Given the description of an element on the screen output the (x, y) to click on. 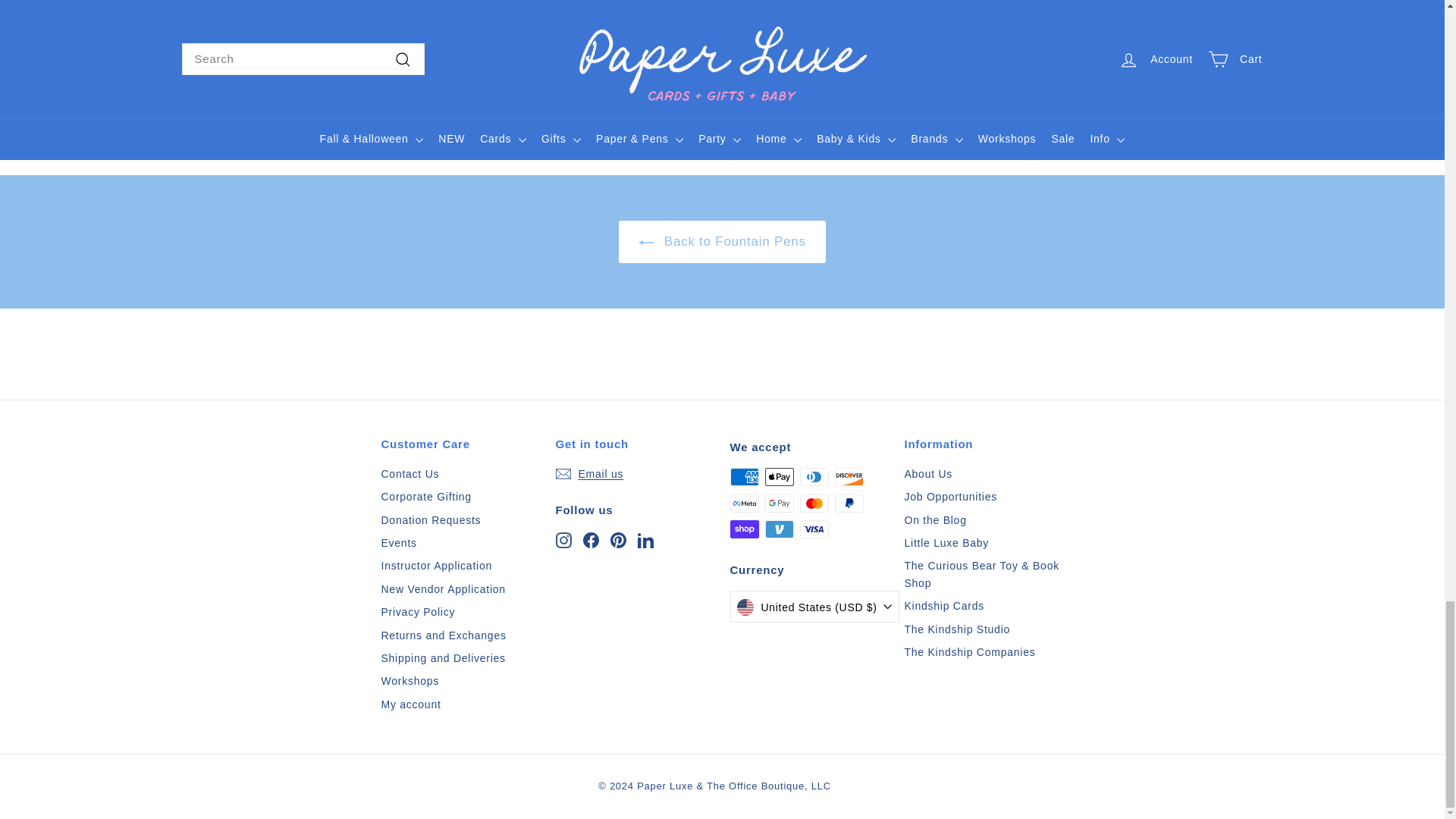
Paper Luxe on LinkedIn (644, 538)
Paper Luxe on Facebook (590, 538)
Paper Luxe on Pinterest (618, 538)
Paper Luxe on Instagram (562, 538)
